Given the description of an element on the screen output the (x, y) to click on. 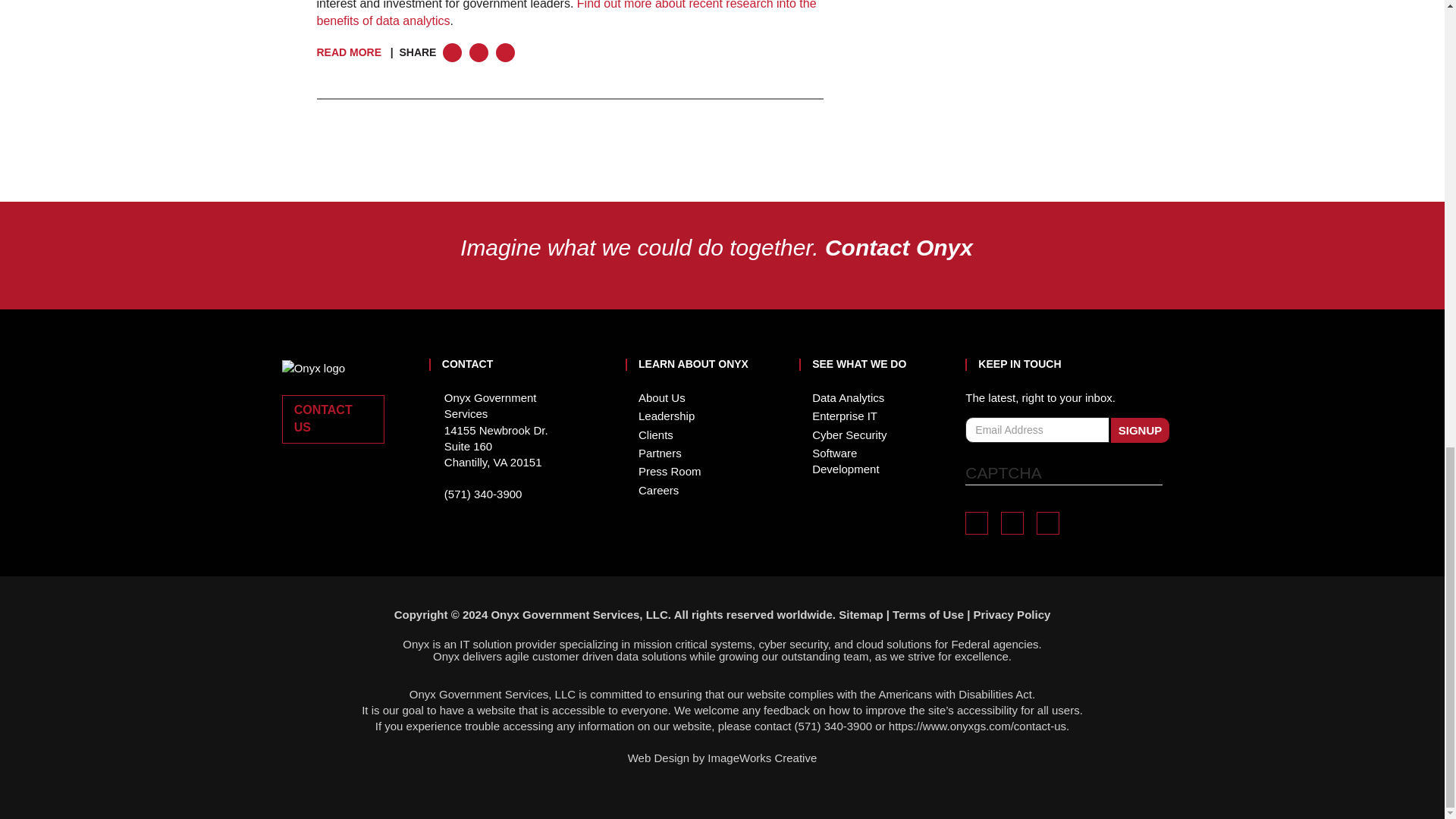
Imageworks Creative (761, 757)
Careers (658, 490)
Partners (660, 452)
